Given the description of an element on the screen output the (x, y) to click on. 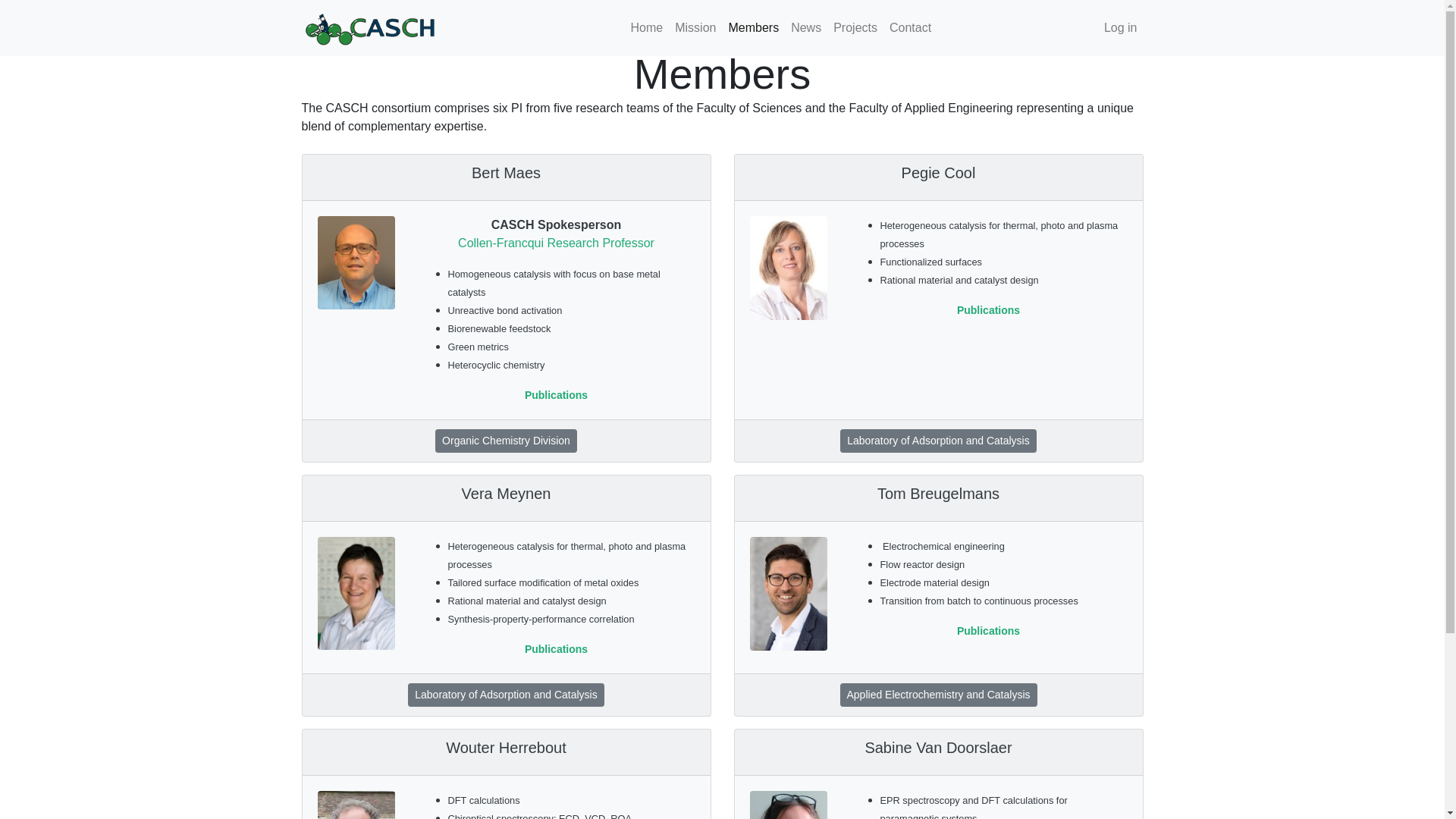
Home Element type: text (646, 27)
Publications Element type: text (555, 394)
Laboratory of Adsorption and Catalysis Element type: text (505, 694)
Members Element type: text (752, 27)
Laboratory of Adsorption and Catalysis Element type: text (937, 440)
News Element type: text (805, 27)
Publications Element type: text (988, 630)
Log in Element type: text (1120, 27)
Collen-Francqui Research Professor Element type: text (556, 242)
Contact Element type: text (910, 27)
Mission Element type: text (694, 27)
Applied Electrochemistry and Catalysis Element type: text (938, 694)
Projects Element type: text (855, 27)
Organic Chemistry Division Element type: text (506, 440)
Publications Element type: text (555, 649)
Publications Element type: text (988, 310)
